Given the description of an element on the screen output the (x, y) to click on. 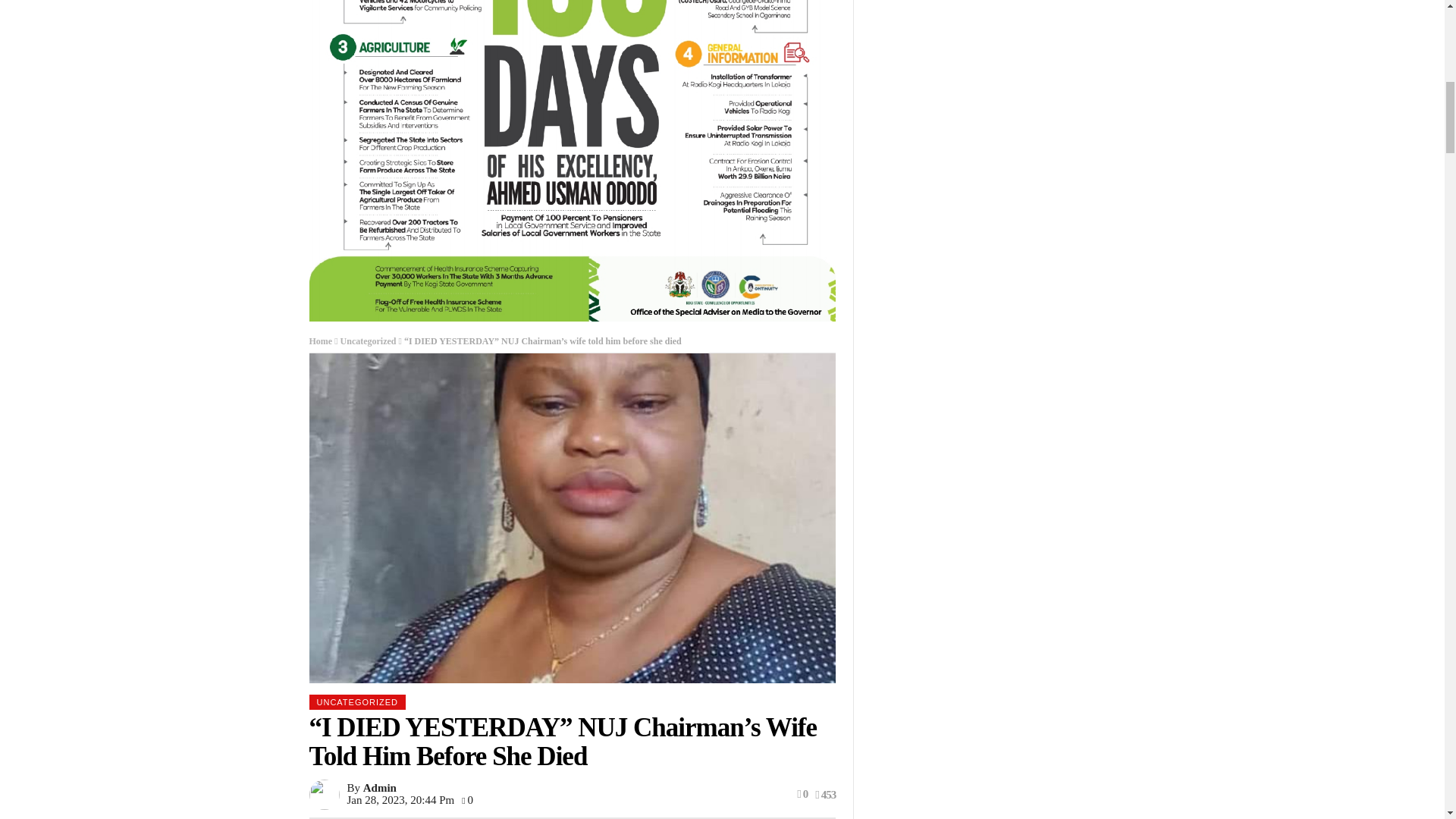
UNCATEGORIZED (357, 702)
Posts by admin (379, 787)
Admin (379, 787)
Uncategorized (368, 340)
0 (467, 799)
Home (320, 340)
